Given the description of an element on the screen output the (x, y) to click on. 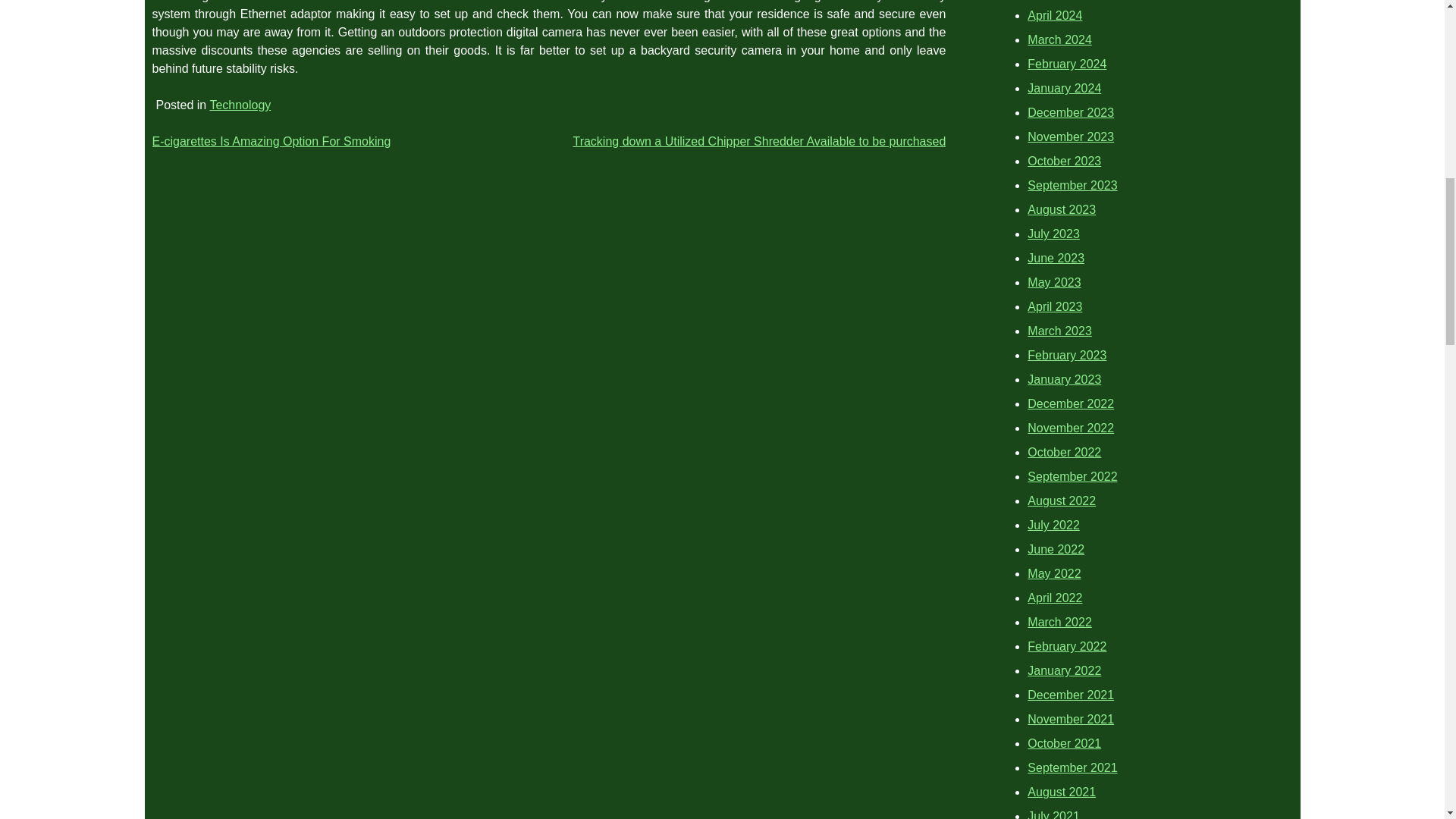
November 2022 (1070, 427)
March 2023 (1059, 330)
E-cigarettes Is Amazing Option For Smoking (270, 141)
December 2022 (1070, 403)
July 2023 (1053, 233)
February 2024 (1066, 63)
April 2024 (1054, 15)
August 2023 (1061, 209)
March 2024 (1059, 39)
January 2023 (1063, 379)
